Given the description of an element on the screen output the (x, y) to click on. 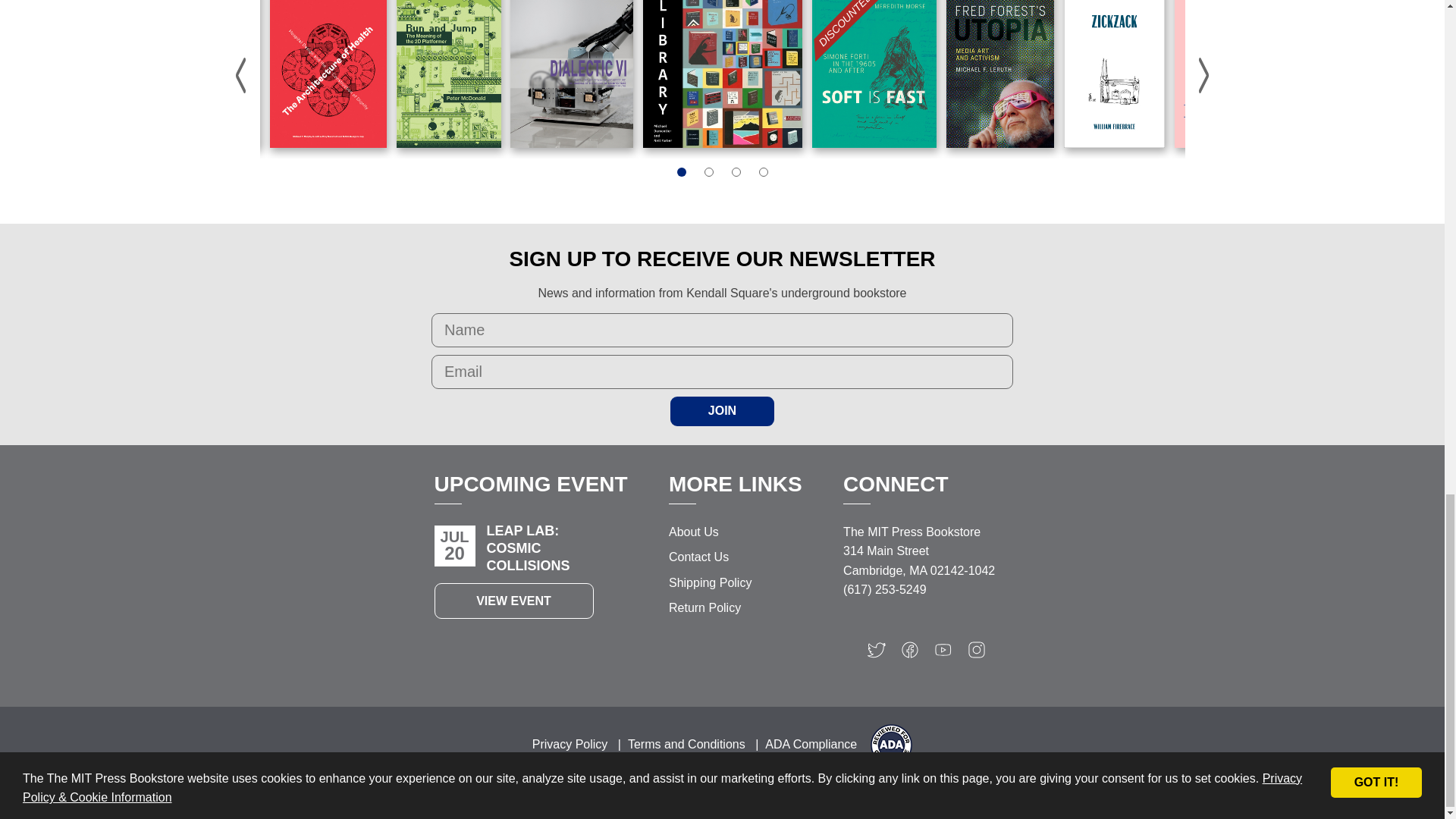
Join (721, 410)
